Given the description of an element on the screen output the (x, y) to click on. 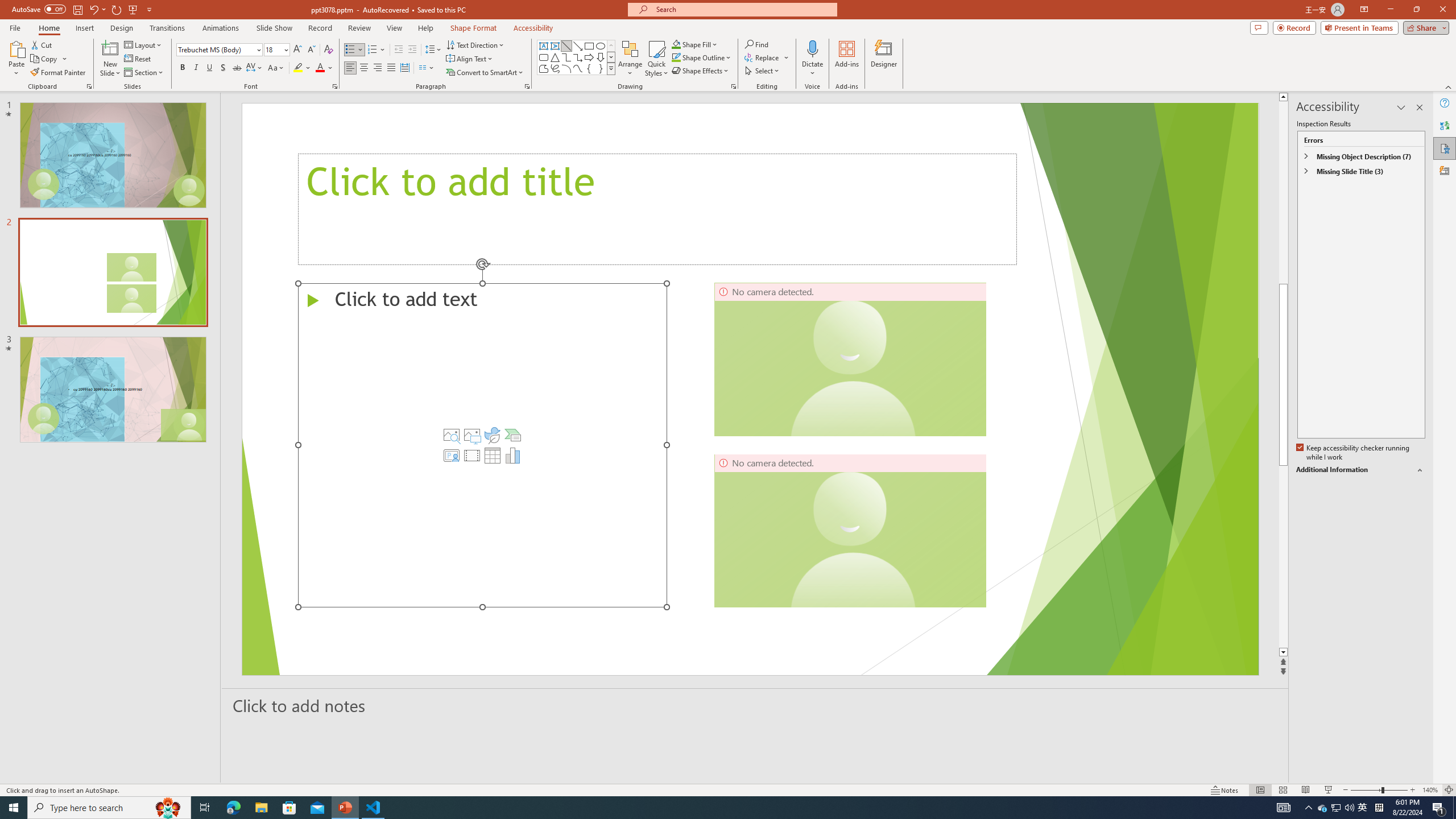
Quick Styles (656, 58)
Format Painter (58, 72)
Line (566, 45)
Format Object... (733, 85)
Oval (600, 45)
Shape Fill (694, 44)
Decrease Font Size (310, 49)
Insert Table (492, 455)
Change Case (276, 67)
Page up (1283, 192)
Insert Video (471, 455)
